Given the description of an element on the screen output the (x, y) to click on. 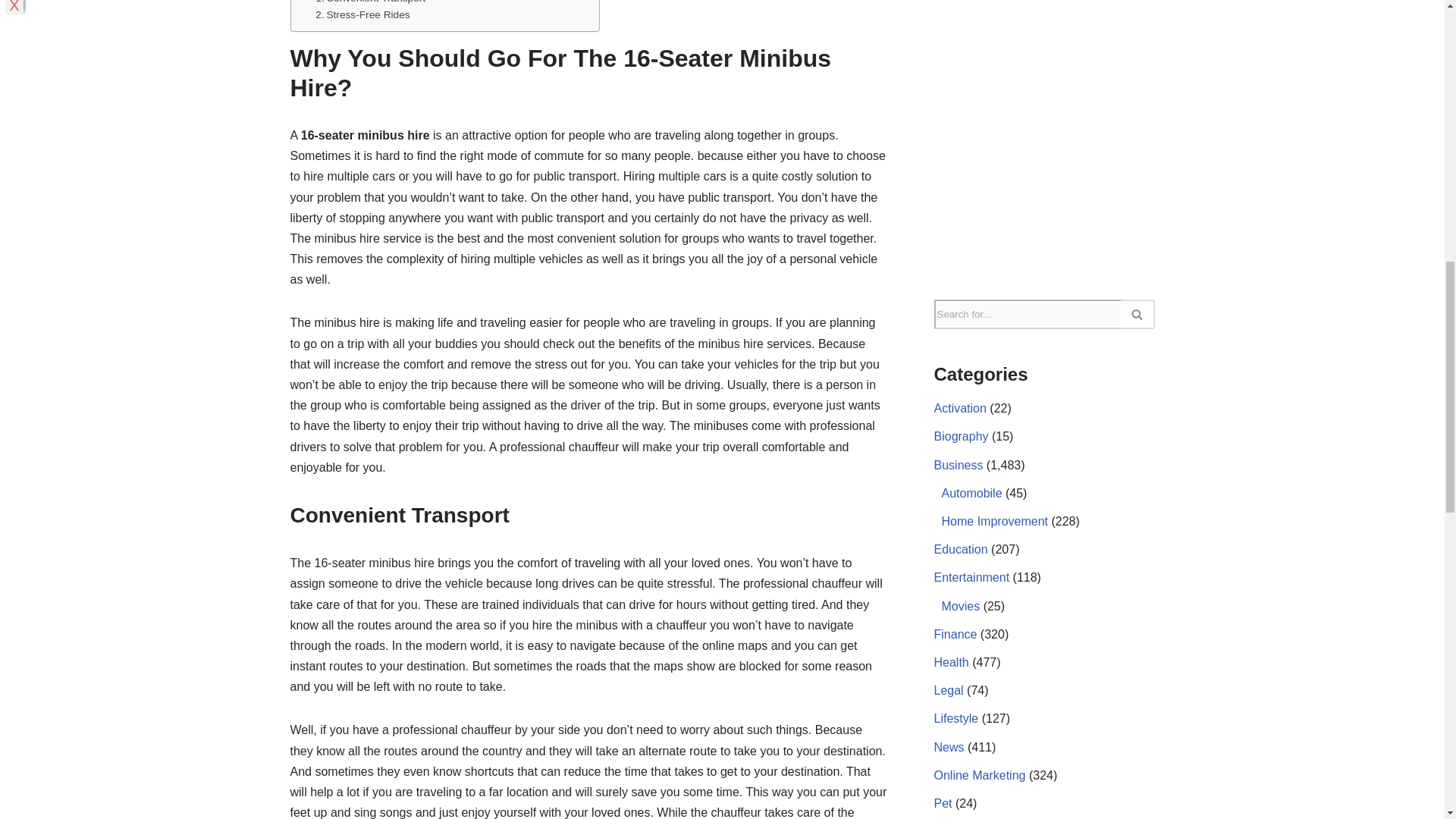
Convenient Transport (370, 3)
Advertisement (1044, 131)
Stress-Free Rides (362, 14)
